Given the description of an element on the screen output the (x, y) to click on. 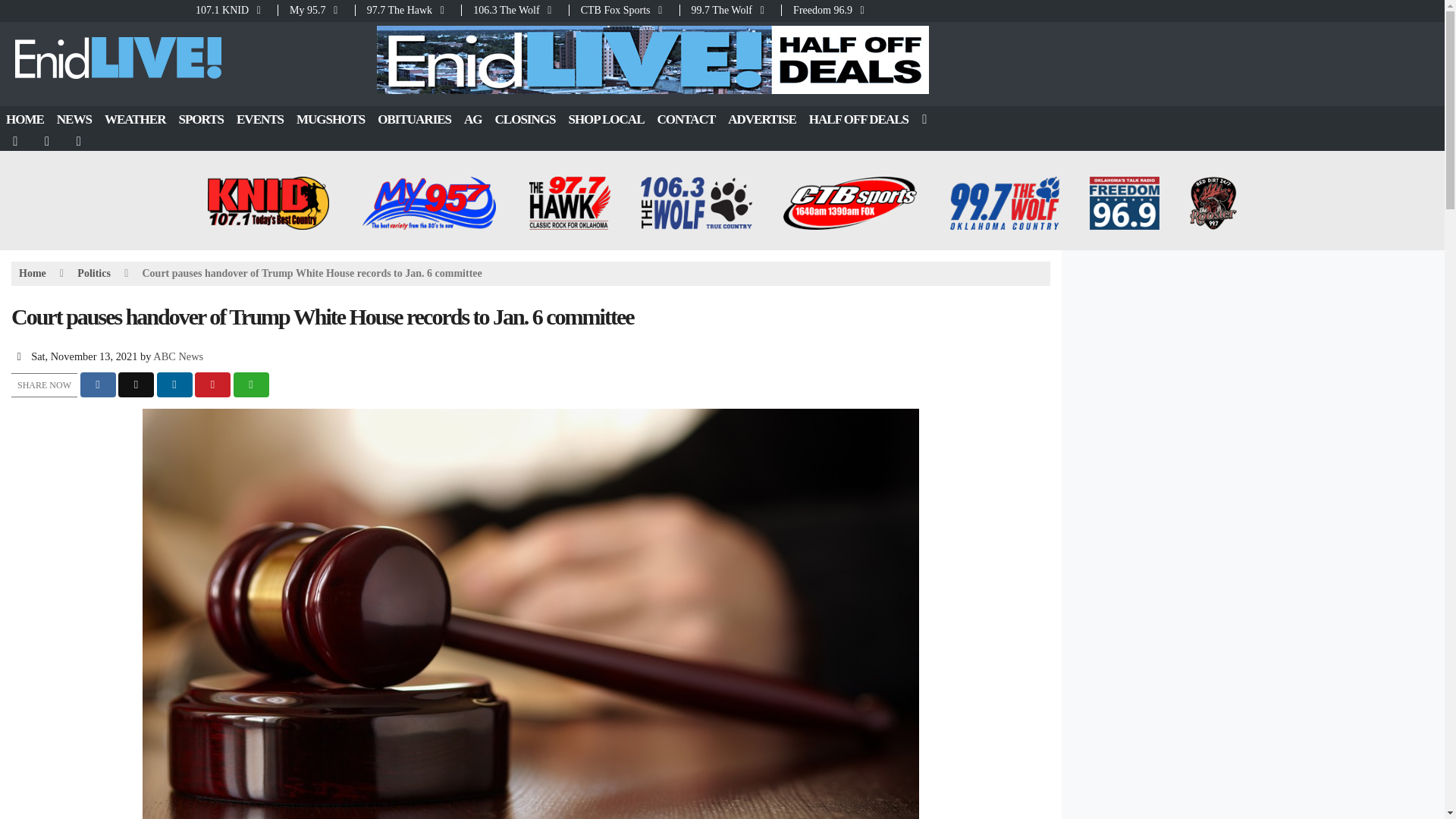
Follow us on Facebook (16, 140)
107.1 KNID (235, 9)
Follow us on X (48, 140)
Posts by ABC News (177, 356)
Follow us on Instagram (80, 140)
My 95.7 (316, 9)
Share to Facebook (98, 384)
